Given the description of an element on the screen output the (x, y) to click on. 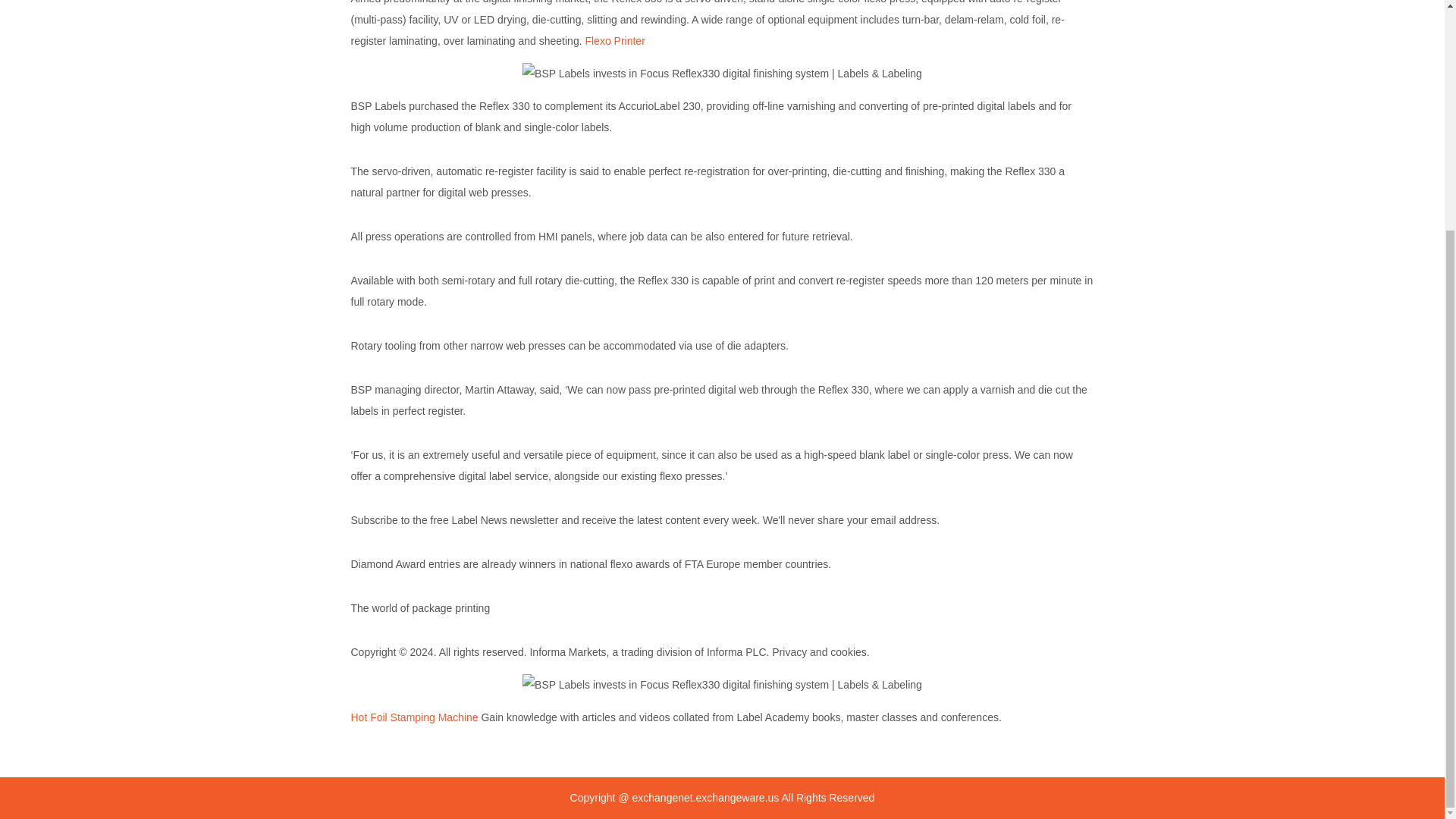
Hot Foil Stamping Machine (413, 717)
Flexo Printer (615, 40)
